Given the description of an element on the screen output the (x, y) to click on. 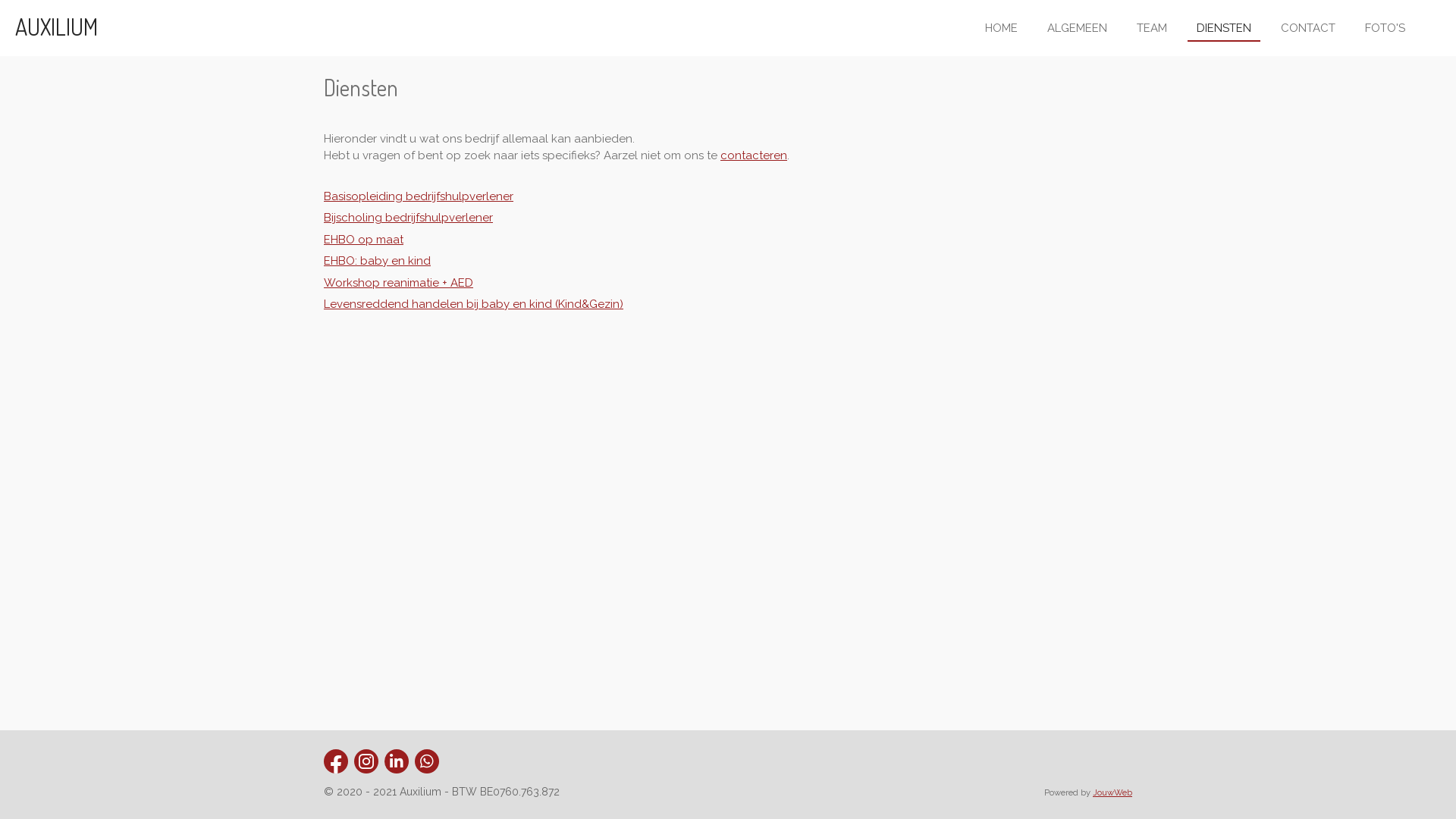
ALGEMEEN Element type: text (1077, 27)
HOME Element type: text (1000, 27)
FOTO'S Element type: text (1384, 27)
Basisopleiding bedrijfshulpverlener Element type: text (418, 196)
CONTACT Element type: text (1307, 27)
EHBO op maat Element type: text (363, 238)
JouwWeb Element type: text (1112, 792)
Workshop reanimatie + AED Element type: text (398, 282)
EHBO: baby en kind Element type: text (376, 260)
Bijscholing bedrijfshulpverlener Element type: text (407, 217)
contacteren Element type: text (753, 155)
DIENSTEN Element type: text (1223, 27)
AUXILIUM Element type: text (56, 26)
TEAM Element type: text (1151, 27)
Levensreddend handelen bij baby en kind (Kind&Gezin) Element type: text (473, 303)
